Given the description of an element on the screen output the (x, y) to click on. 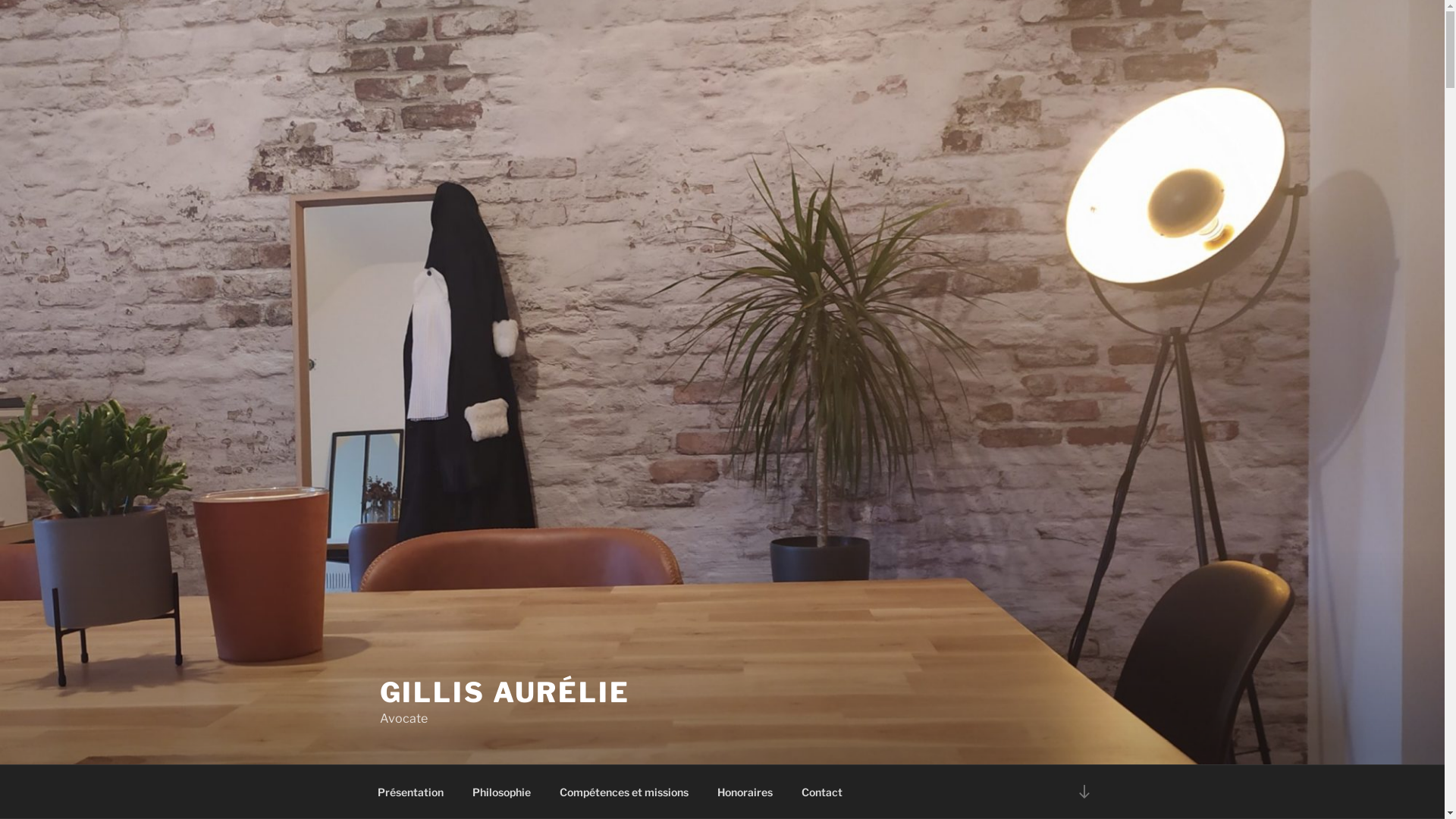
Contact Element type: text (822, 791)
Descendre au contenu Element type: text (1083, 790)
Aller au contenu principal Element type: text (0, 0)
Philosophie Element type: text (501, 791)
Honoraires Element type: text (744, 791)
